Given the description of an element on the screen output the (x, y) to click on. 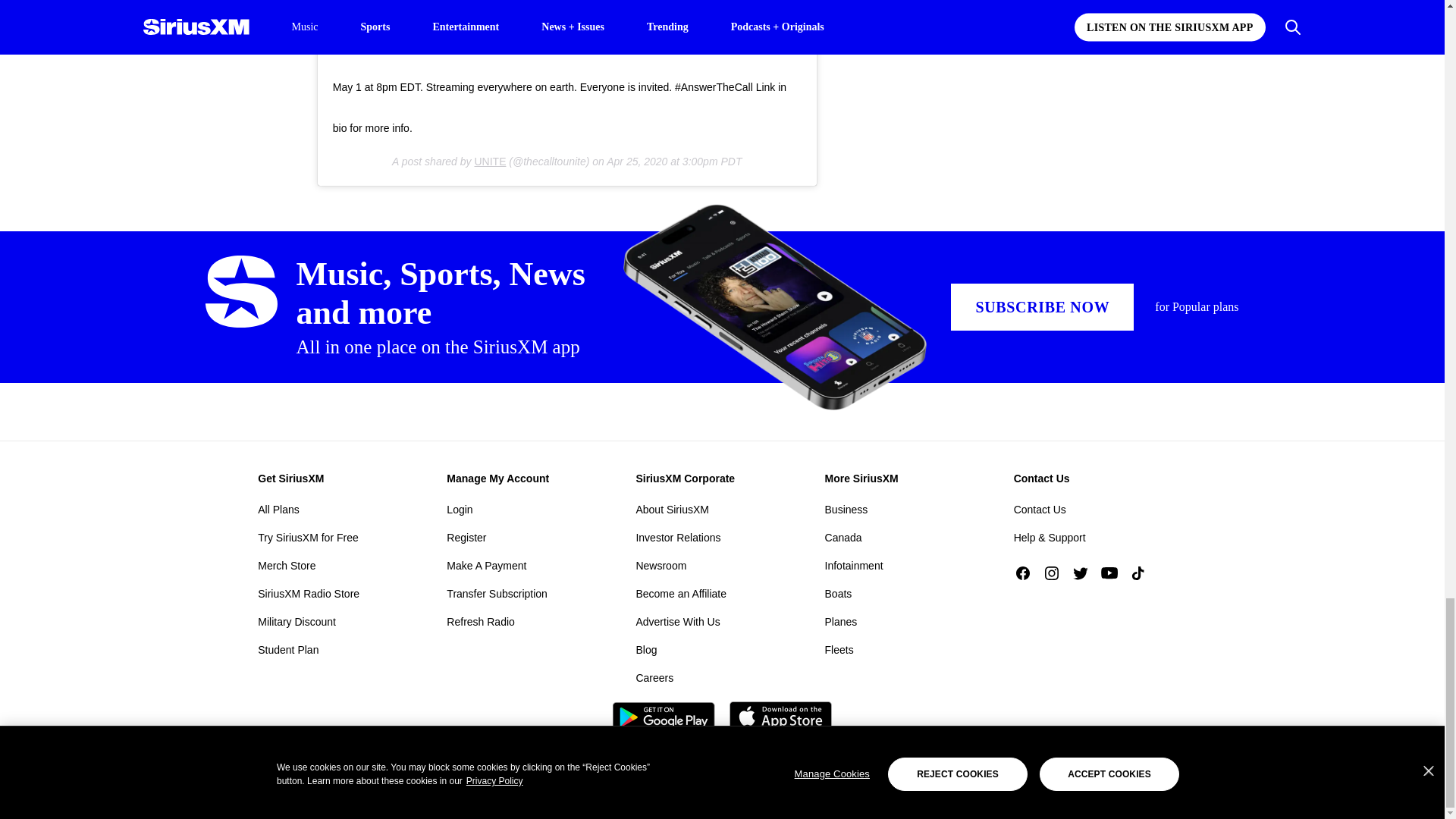
Page 1 (605, 92)
Page 1 (605, 92)
Page 1 (605, 92)
